Given the description of an element on the screen output the (x, y) to click on. 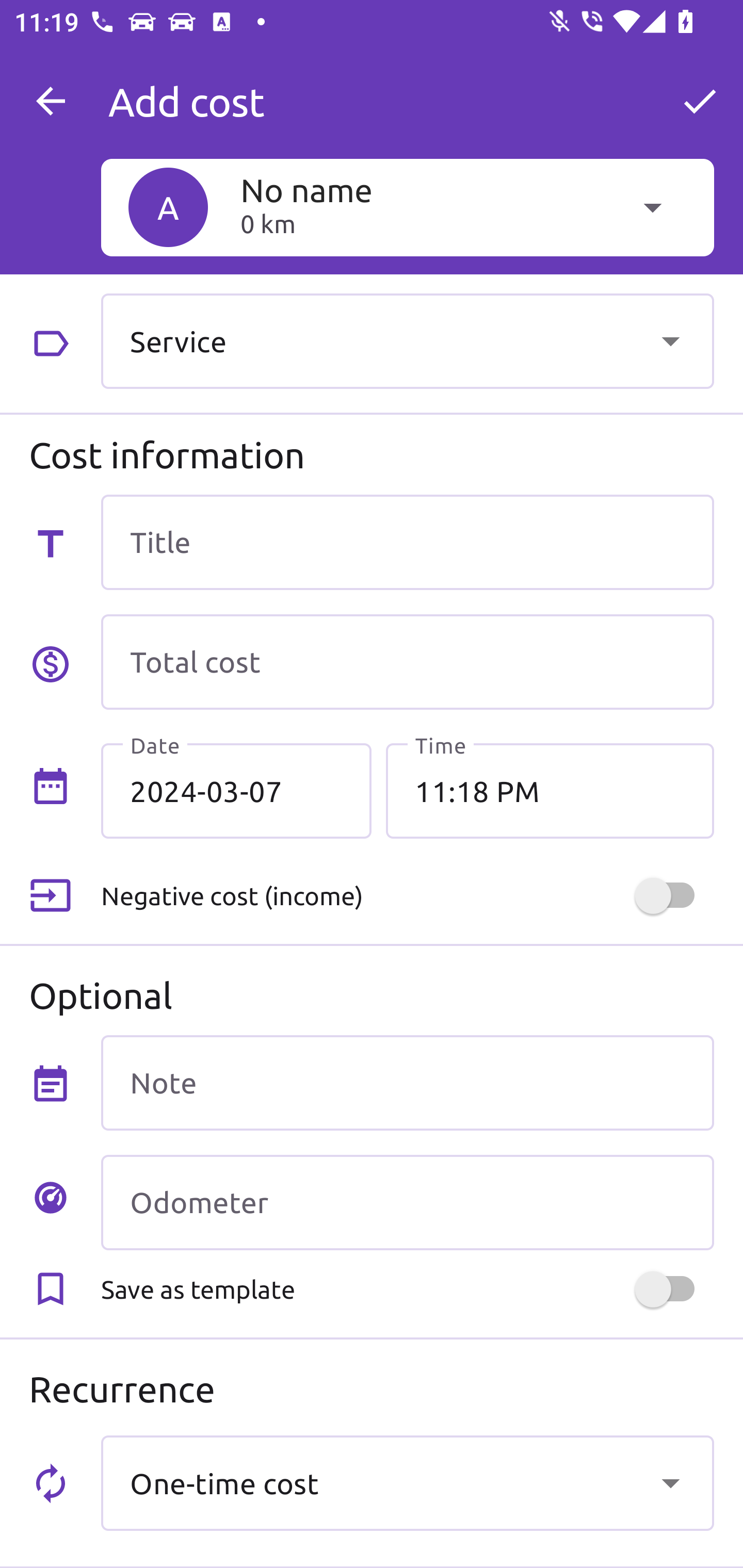
Navigate up (50, 101)
OK (699, 101)
A No name 0 km (407, 206)
Service (407, 340)
Show dropdown menu (670, 340)
Title (407, 541)
Total cost  (407, 662)
2024-03-07 (236, 790)
11:18 PM (549, 790)
Negative cost (income) (407, 895)
Note (407, 1082)
Odometer (407, 1202)
Save as template (407, 1289)
One-time cost (407, 1482)
Show dropdown menu (670, 1482)
